Given the description of an element on the screen output the (x, y) to click on. 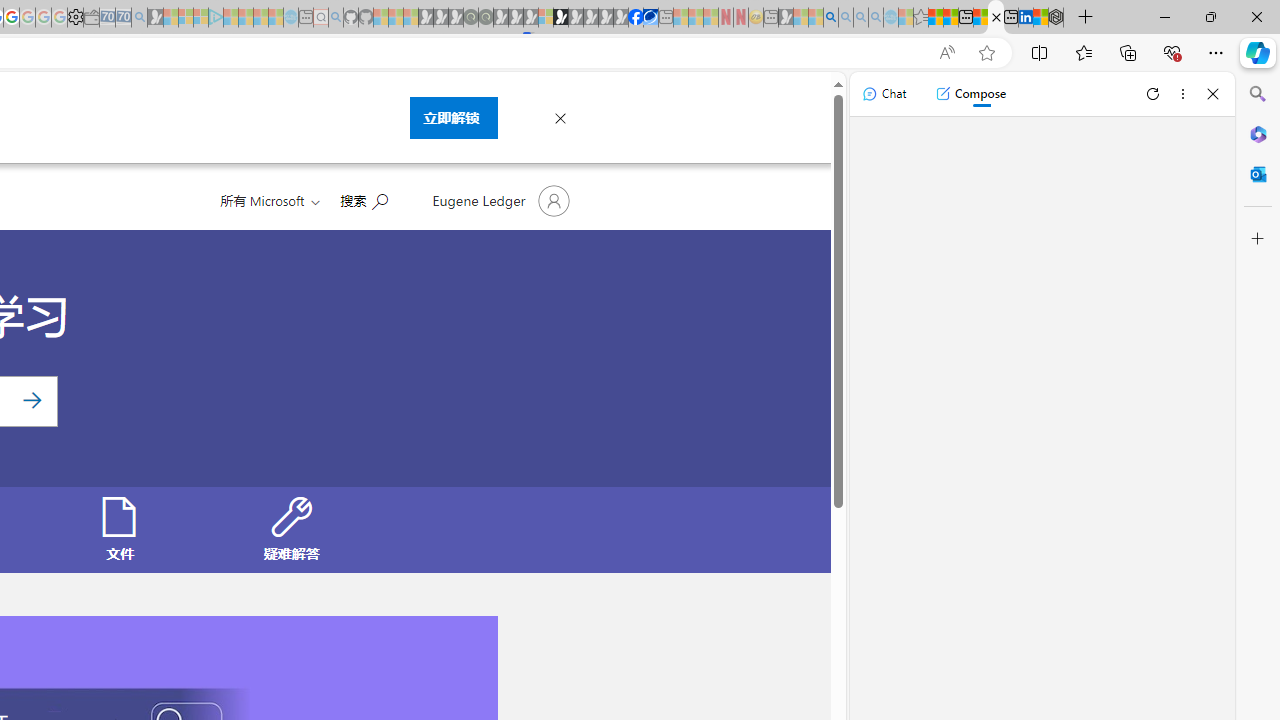
Nordace | Facebook (635, 17)
Bing AI - Search (831, 17)
